Given the description of an element on the screen output the (x, y) to click on. 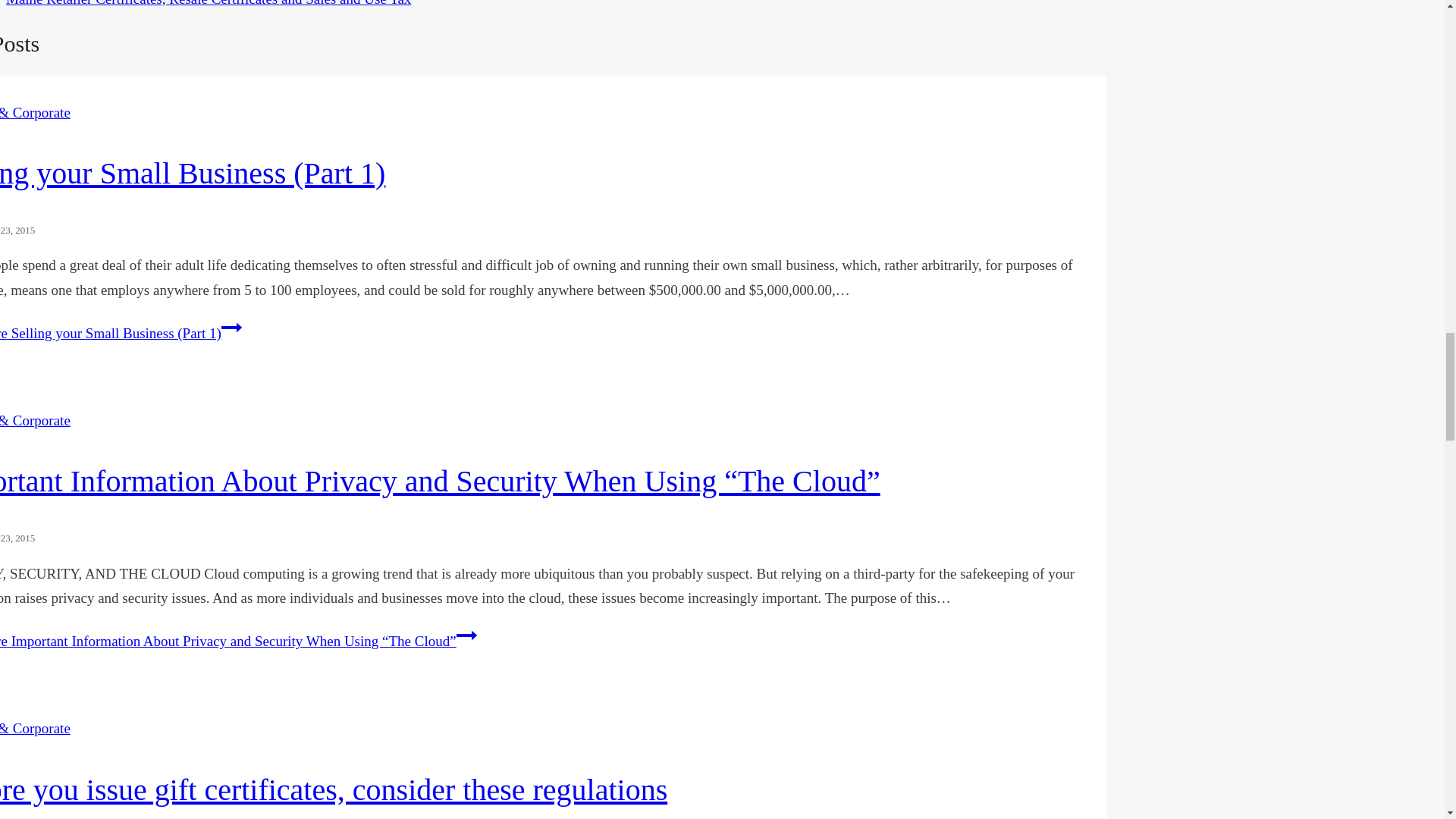
Continue (467, 635)
Continue (231, 327)
